Given the description of an element on the screen output the (x, y) to click on. 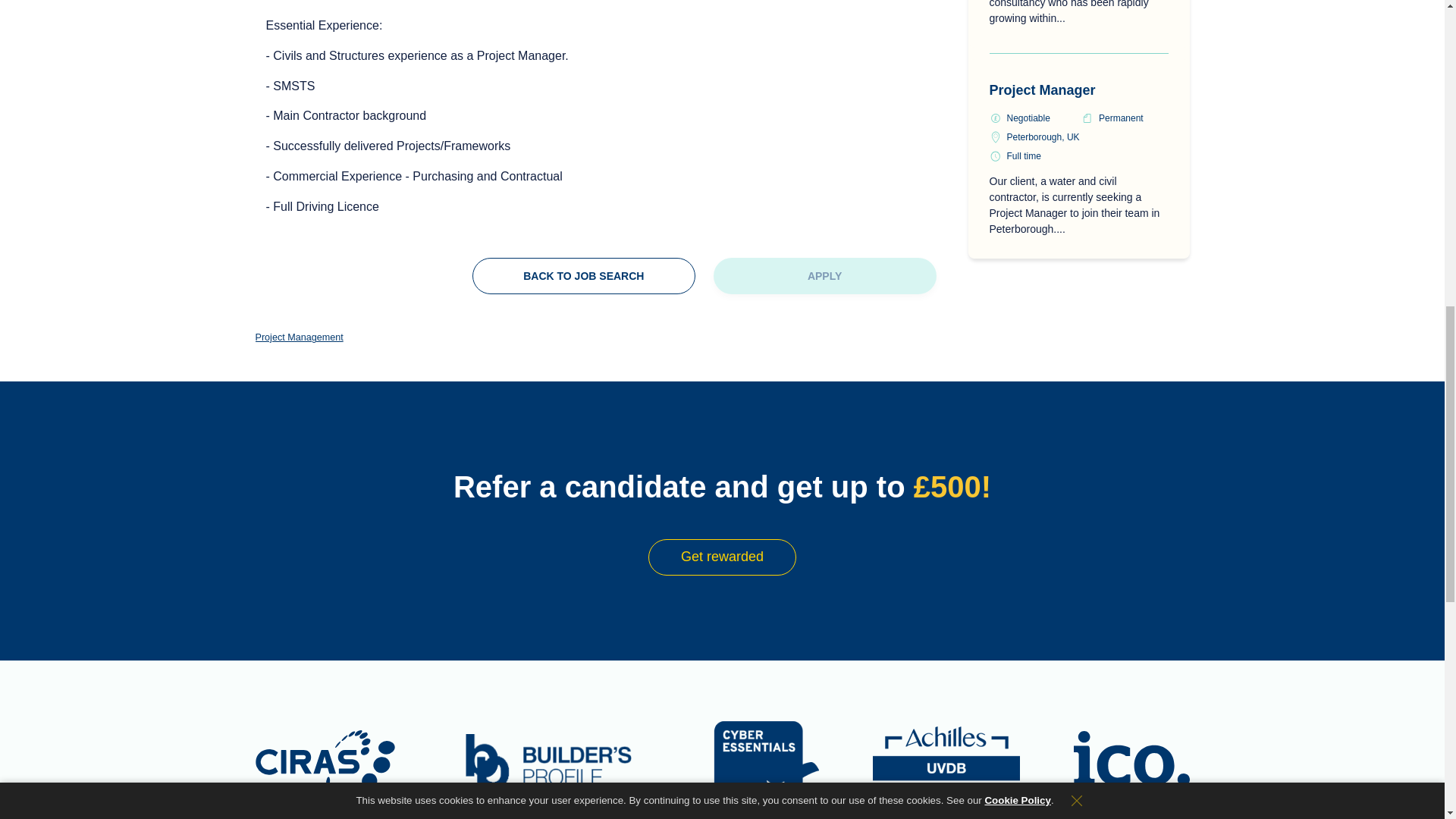
APPLY (824, 275)
Get rewarded (721, 556)
BACK TO JOB SEARCH (583, 275)
Project Manager (1041, 89)
Project Management (298, 337)
